Given the description of an element on the screen output the (x, y) to click on. 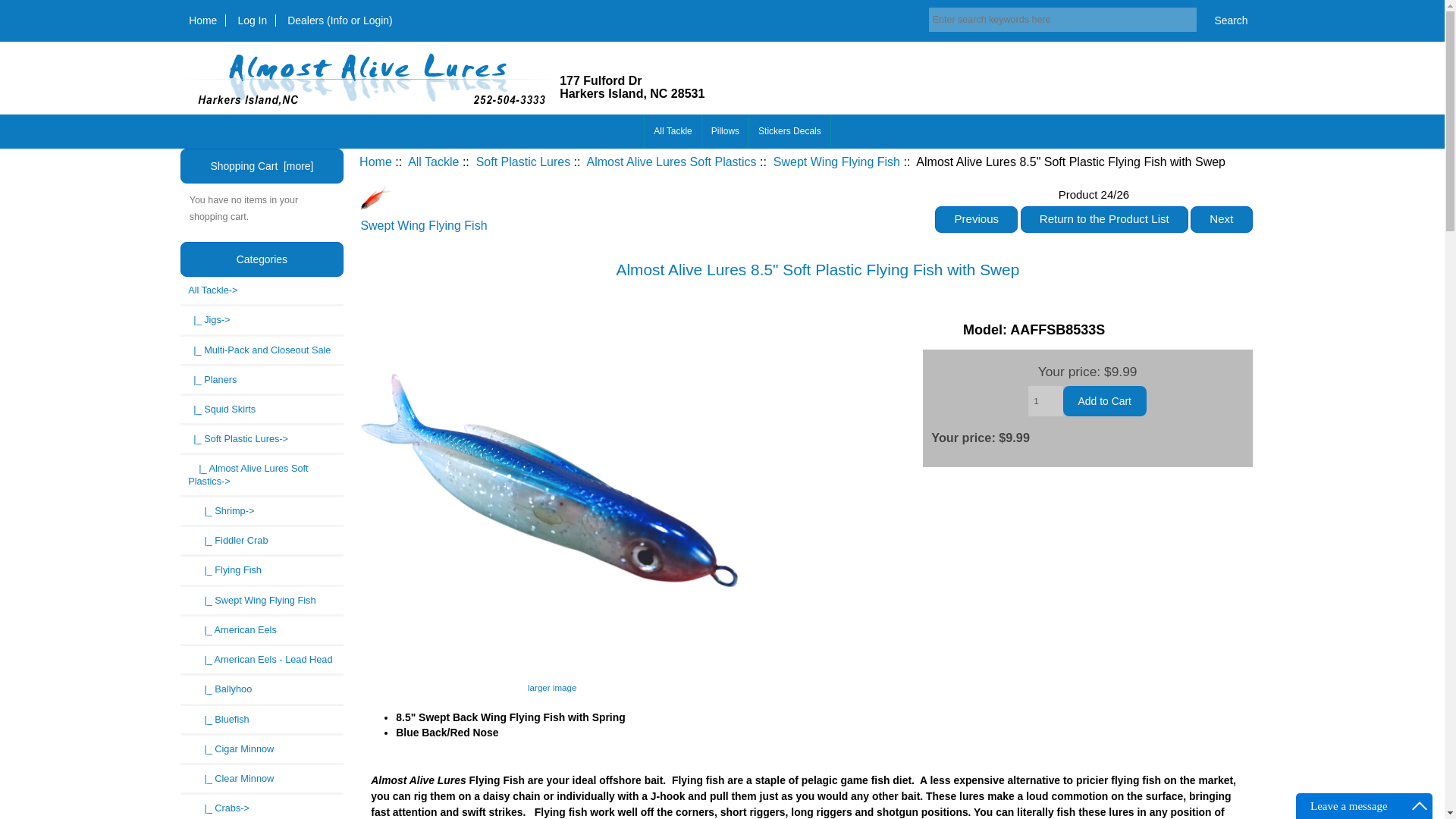
Search (1230, 19)
1 (1044, 400)
Maximize (1419, 805)
Almost Alive Lures 8.5" Soft Plastic Flying Fish with Swep (551, 680)
Home (202, 20)
All Tackle (672, 131)
Stickers Decals (631, 100)
Search (789, 131)
 Swept Wing Flying Fish  (1230, 19)
Pillows (374, 197)
Log In (724, 131)
Add to Cart (251, 20)
Search (1104, 400)
